Given the description of an element on the screen output the (x, y) to click on. 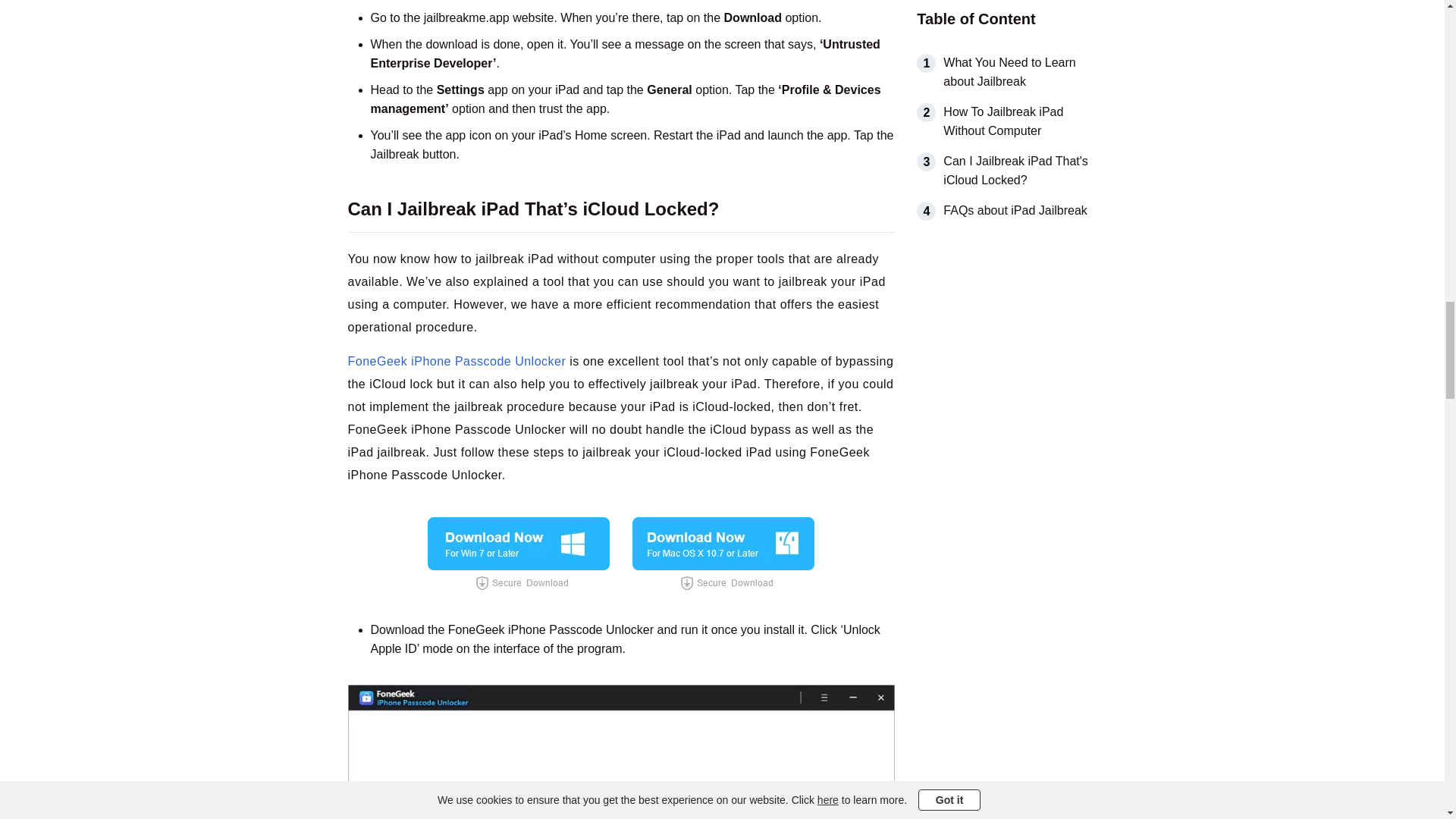
FoneGeek iPhone Passcode Unlocker (456, 360)
